Given the description of an element on the screen output the (x, y) to click on. 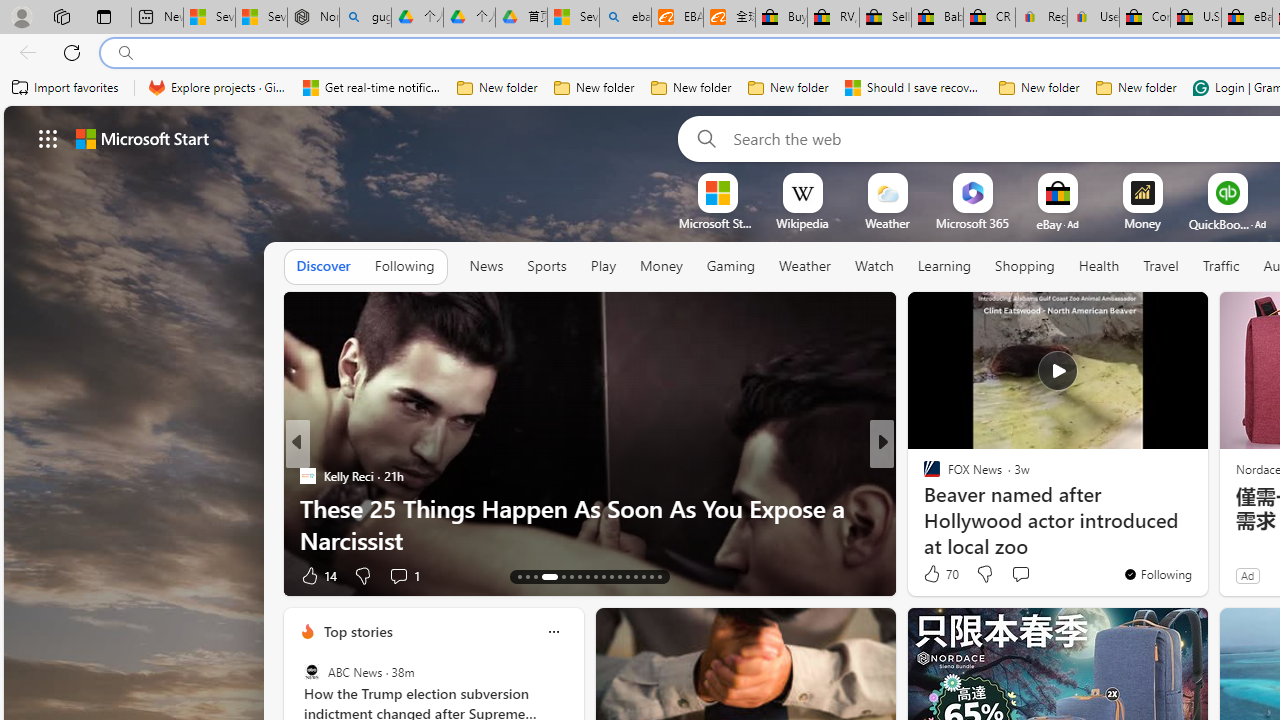
AutomationID: tab-13 (518, 576)
Import favorites (65, 88)
View comments 6 Comment (1019, 574)
Discovery (923, 475)
31 Like (934, 574)
Shopping (1025, 267)
Real Wild (923, 507)
Wikipedia (802, 223)
11 Like (934, 574)
